Given the description of an element on the screen output the (x, y) to click on. 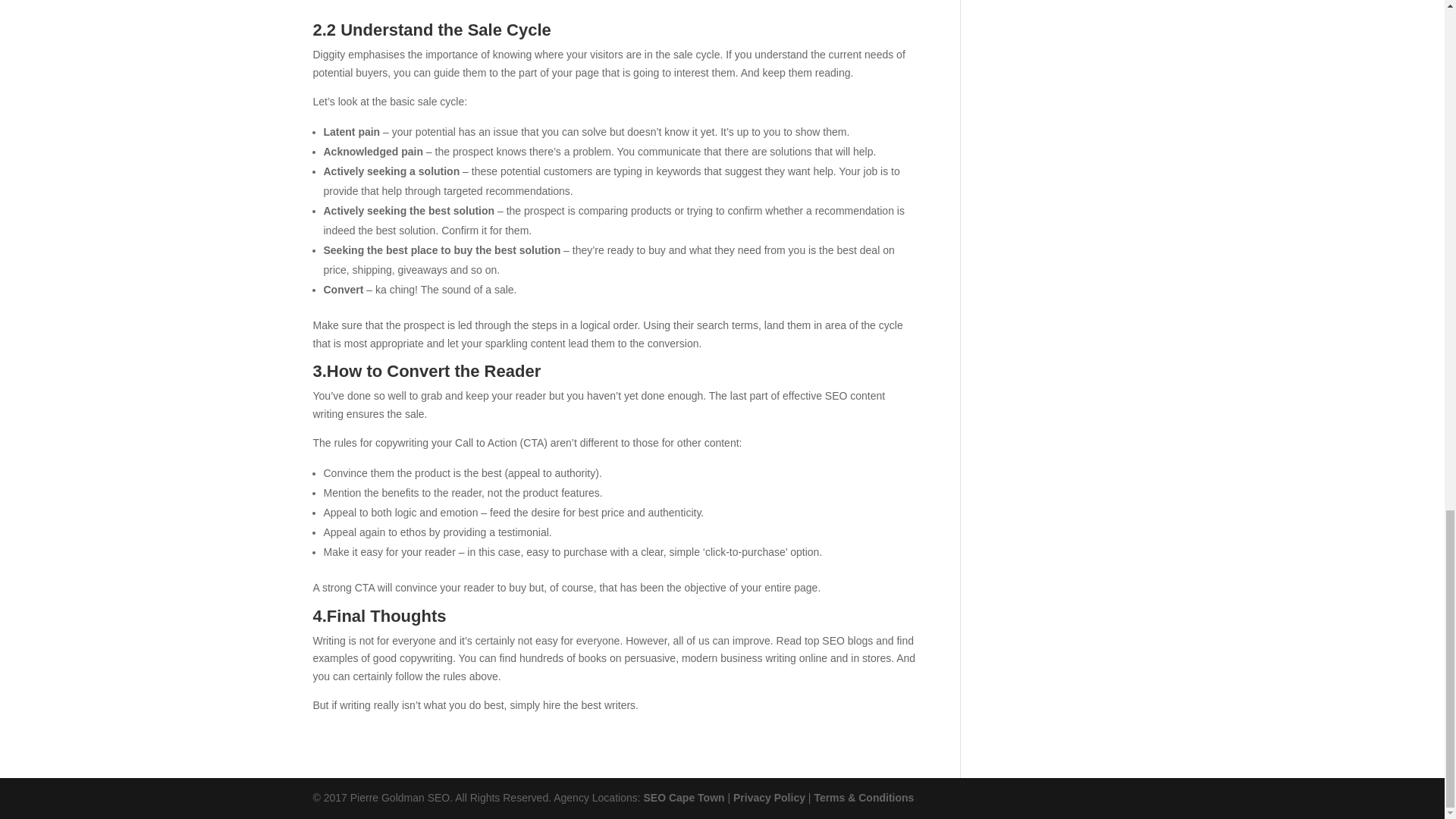
SEO Cape Town (683, 797)
Privacy Policy (769, 797)
